Given the description of an element on the screen output the (x, y) to click on. 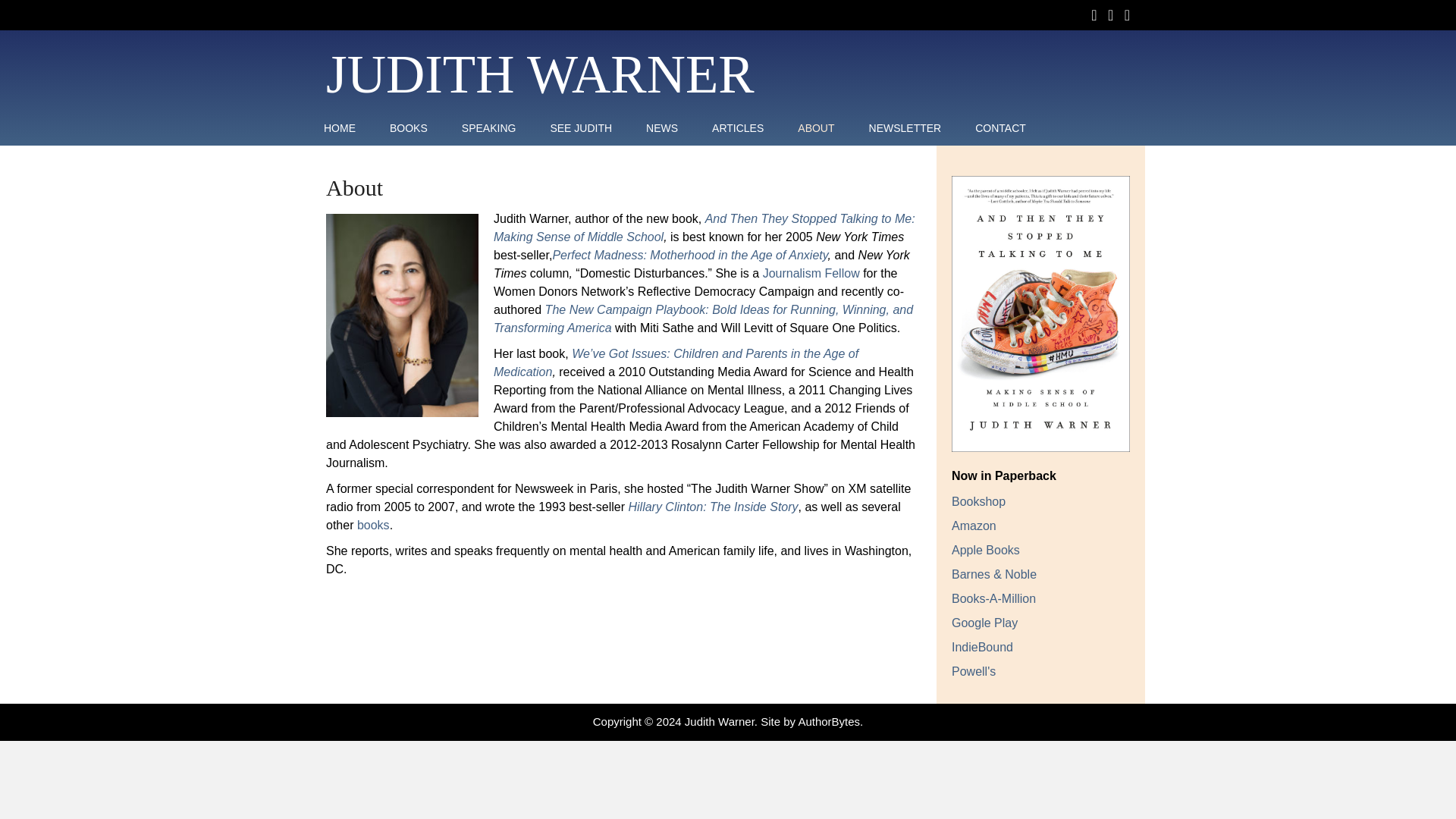
Perfect Madness: Motherhood in the Age of Anxiety (689, 254)
IndieBound (982, 646)
Powell's (973, 671)
NEWSLETTER (905, 127)
Amazon (973, 525)
ABOUT (815, 127)
Apple Books (986, 549)
Bookshop (979, 501)
Google Play (984, 622)
